Given the description of an element on the screen output the (x, y) to click on. 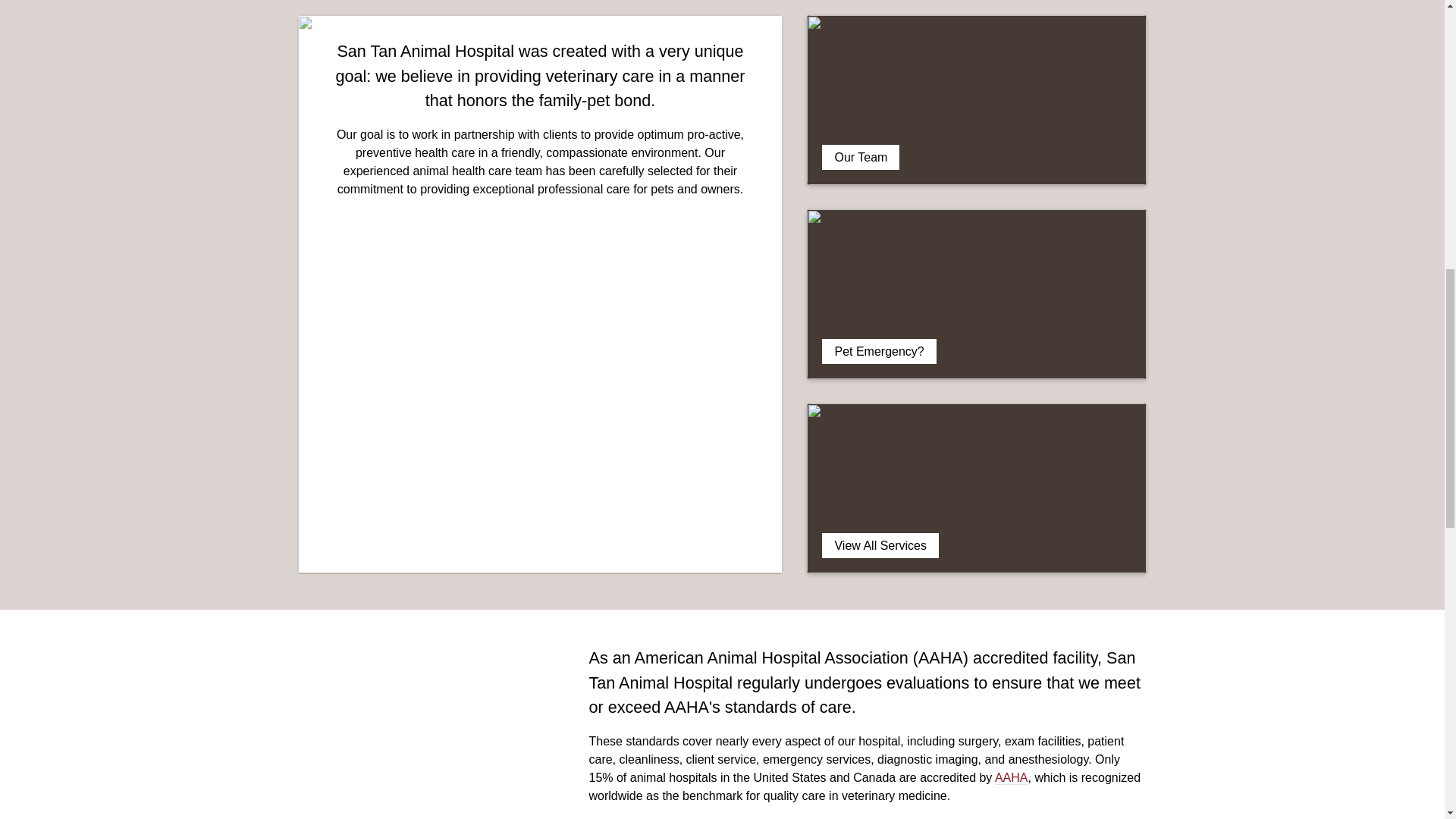
Pet Emergency? (976, 294)
Top (1408, 24)
Our Team (976, 100)
AAHA (1010, 777)
View All Services (976, 488)
